Given the description of an element on the screen output the (x, y) to click on. 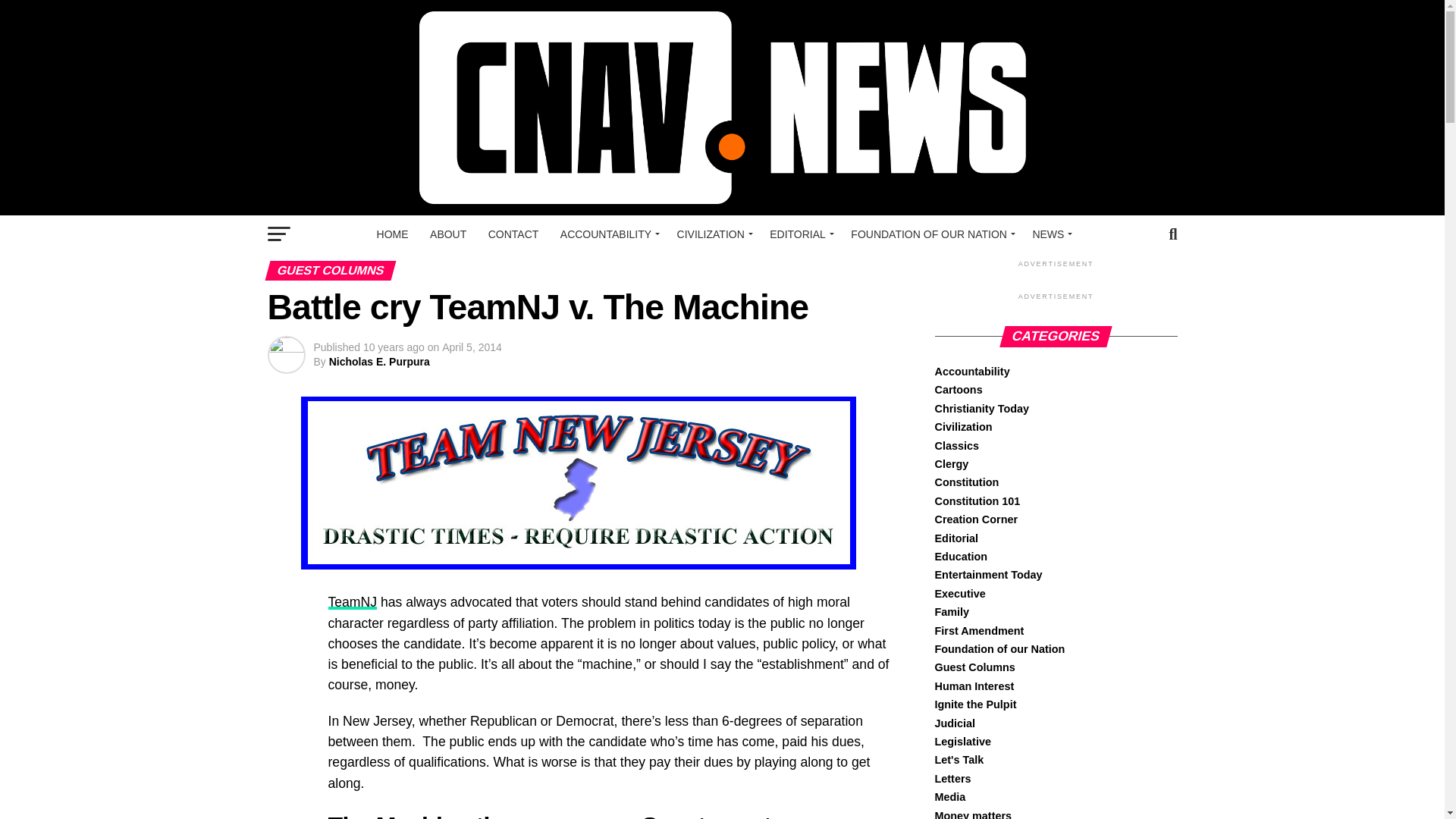
TeamNJ-USA (352, 601)
